Given the description of an element on the screen output the (x, y) to click on. 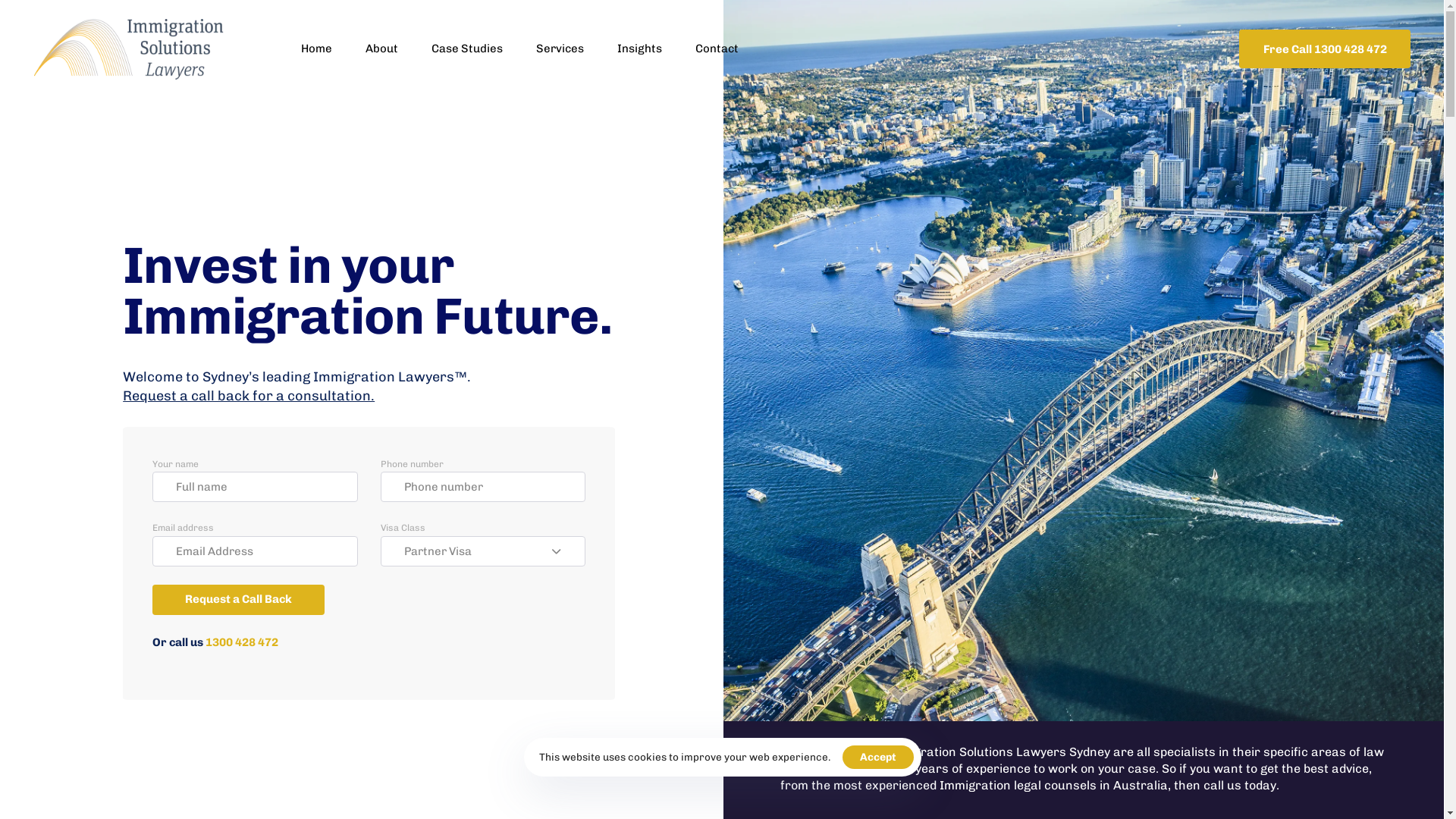
Skilled Migration Element type: text (895, 516)
Insights Element type: text (639, 49)
Resident Return Visa Application Element type: text (895, 596)
Case Studies Element type: text (754, 491)
Accept Element type: text (877, 756)
Services Element type: text (559, 49)
About Element type: text (754, 467)
Partner Visas Element type: text (895, 467)
Case Studies Element type: text (466, 49)
Family Visas Element type: text (895, 443)
Join the team Element type: text (754, 564)
Services Element type: text (754, 516)
About Element type: text (381, 49)
Contact Element type: text (716, 49)
Request a Call Back Element type: text (238, 599)
Australian Citizenship Element type: text (895, 564)
Business Visas Element type: text (895, 540)
Insights Element type: text (754, 540)
Home Element type: text (316, 49)
F
r
e
e
C
a
l
l
1
3
0
0
4
2
8
4
7
2 Element type: text (1324, 48)
Contact Element type: text (754, 588)
Home Element type: text (754, 443)
AAT Appeal & MIU Element type: text (895, 491)
